Given the description of an element on the screen output the (x, y) to click on. 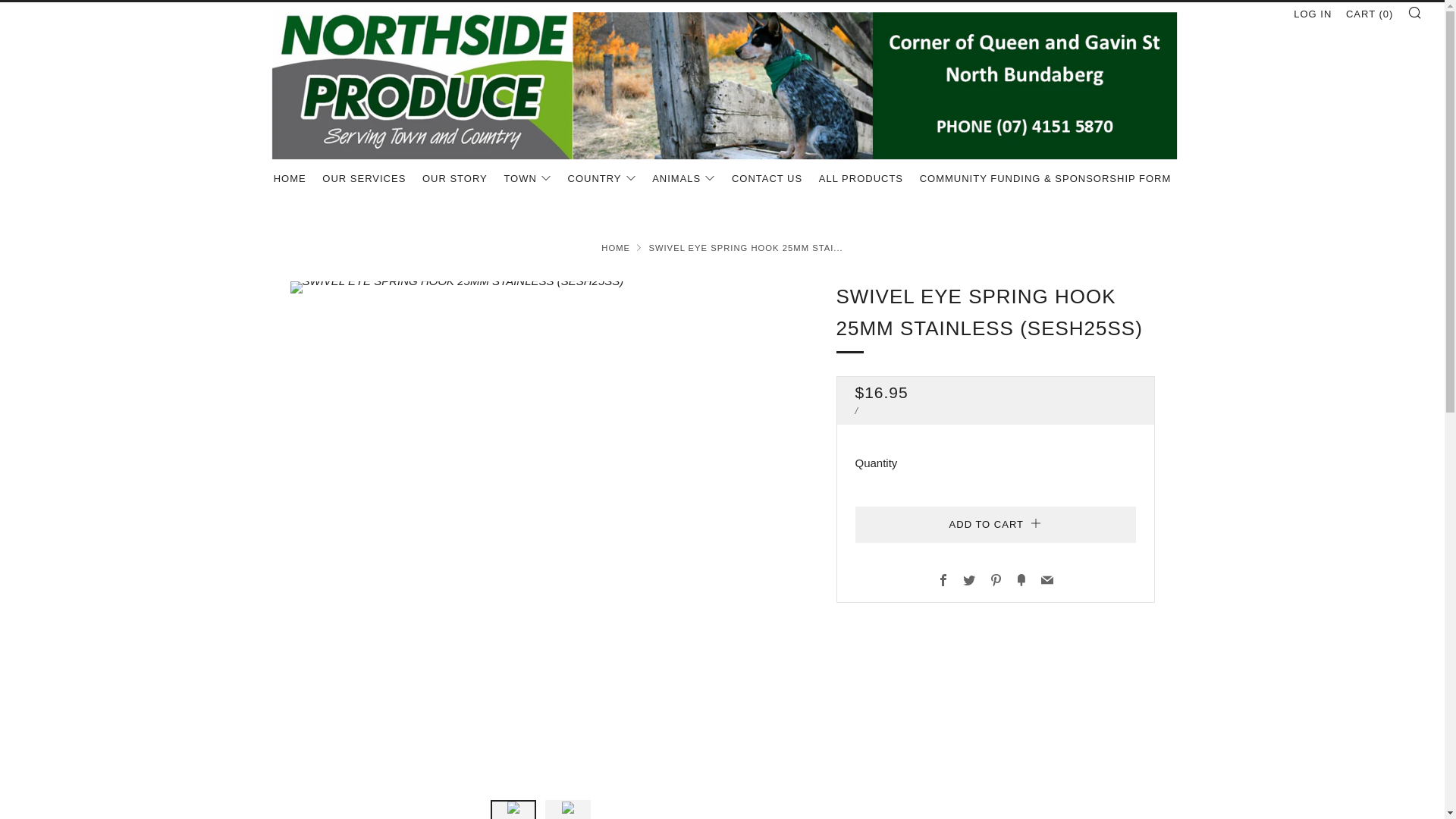
Home (615, 247)
